Given the description of an element on the screen output the (x, y) to click on. 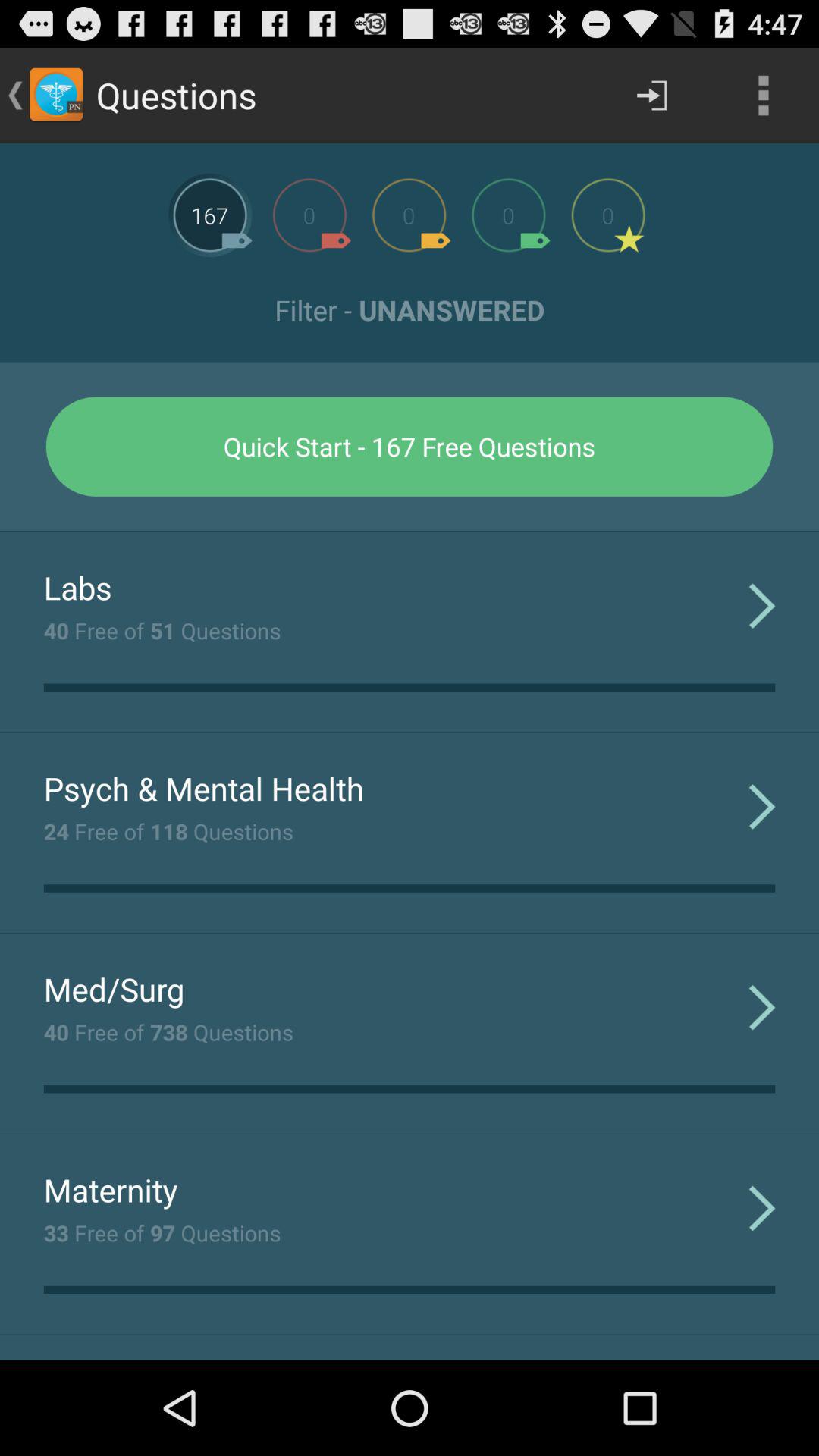
answer the question (209, 215)
